Given the description of an element on the screen output the (x, y) to click on. 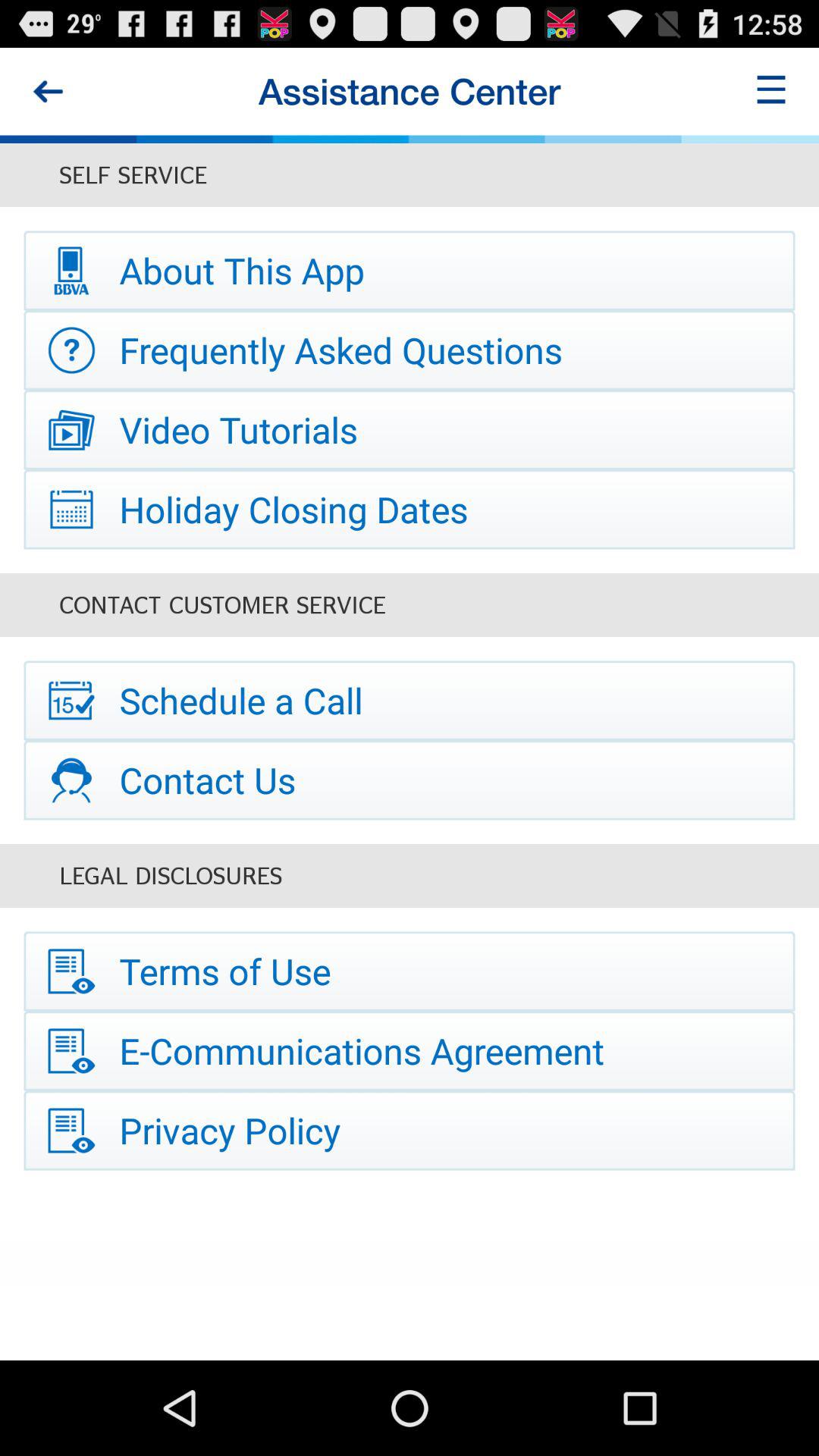
open the icon below terms of use (409, 1050)
